Given the description of an element on the screen output the (x, y) to click on. 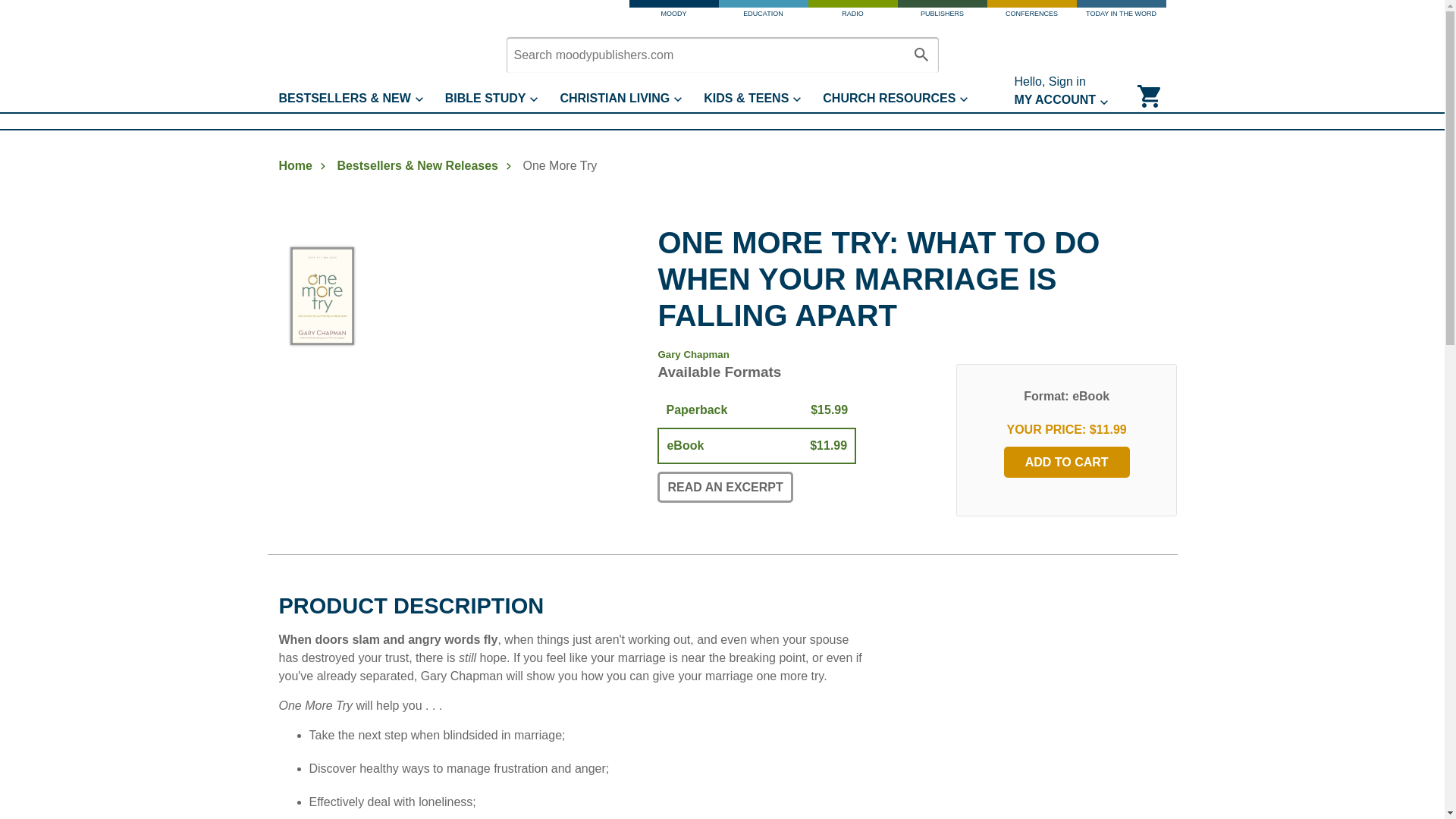
BIBLE STUDY (502, 98)
MY ACCOUNT (1072, 99)
MOODY (673, 11)
TODAY IN THE WORD (1121, 11)
Gary Chapman (693, 354)
CHURCH RESOURCES (906, 98)
EDUCATION (763, 11)
CHRISTIAN LIVING (631, 98)
CONFERENCES (1032, 11)
Search (921, 54)
RADIO (853, 11)
PUBLISHERS (942, 11)
